Given the description of an element on the screen output the (x, y) to click on. 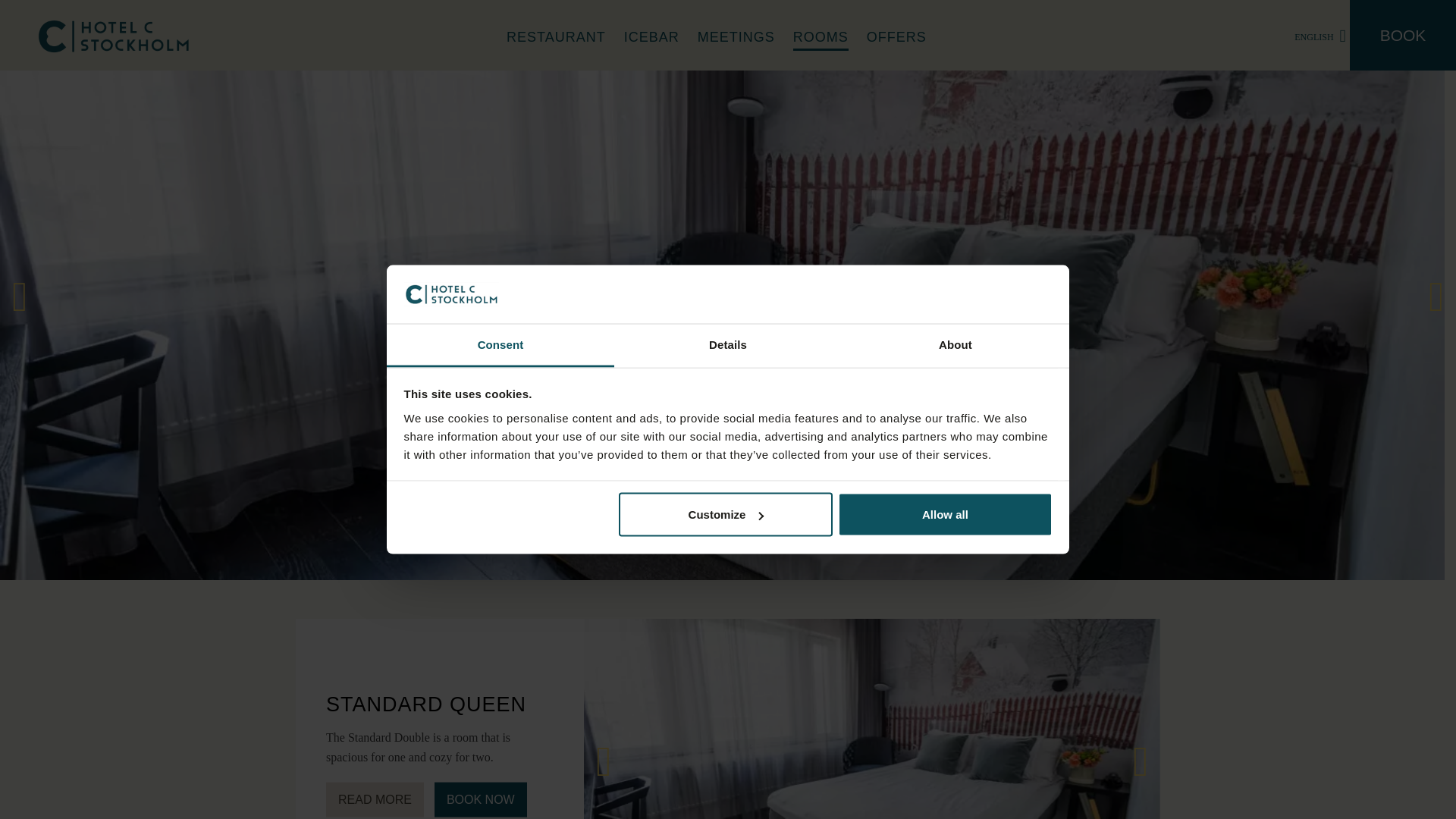
Details (727, 344)
Consent (500, 344)
About (954, 344)
